Given the description of an element on the screen output the (x, y) to click on. 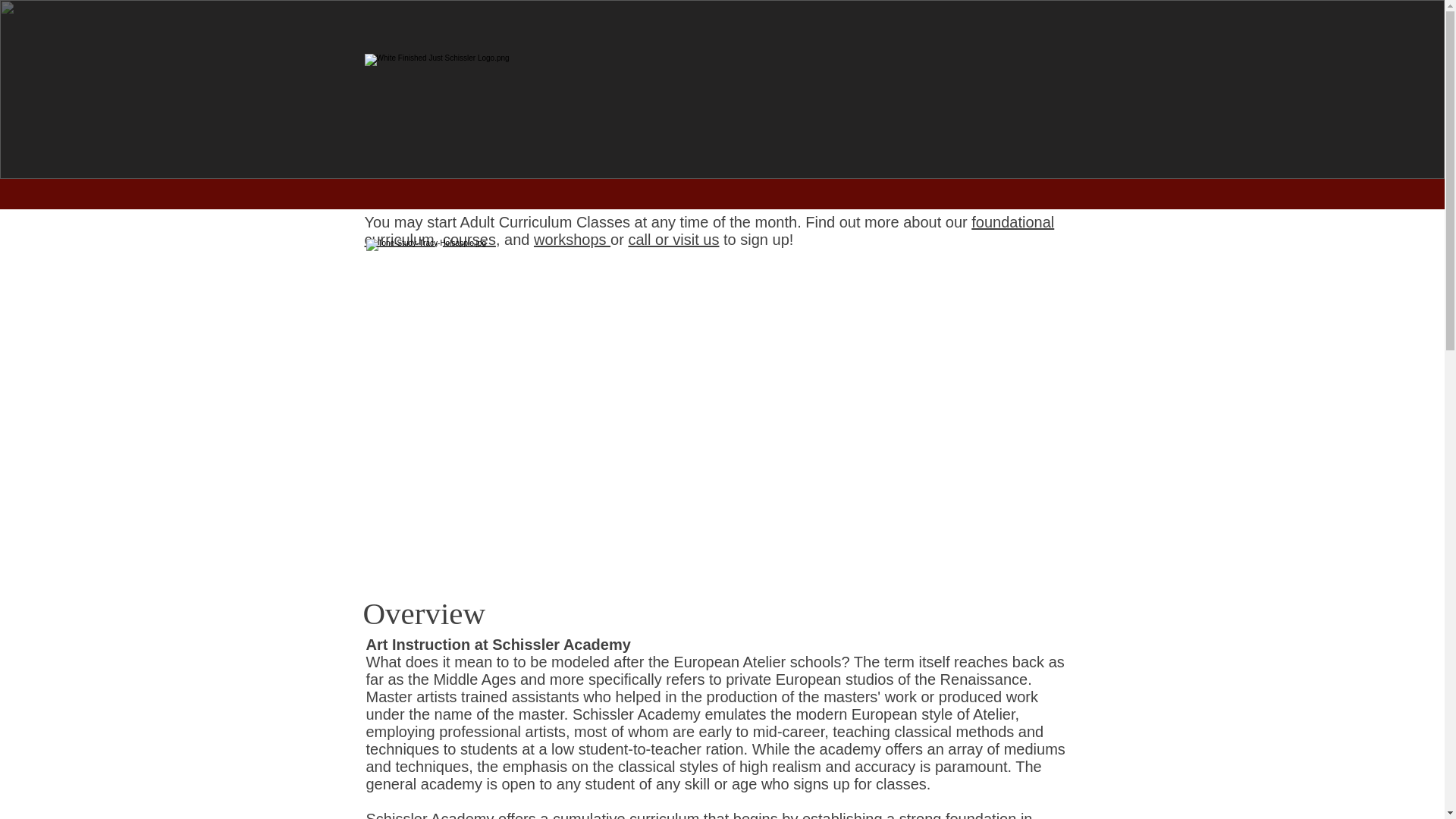
STUDENT GALLERY (1002, 201)
CONTACT (1229, 201)
courses (469, 239)
HOME (146, 201)
INSTRUCTOR JANEEN SCHISSLER (595, 201)
CERTIFICATE PROGRAM (824, 201)
call or visit us (673, 239)
foundational curriculum (709, 230)
CALENDAR (1133, 201)
workshops (572, 239)
WORKSHOPS (405, 201)
ABOUT (215, 201)
